Given the description of an element on the screen output the (x, y) to click on. 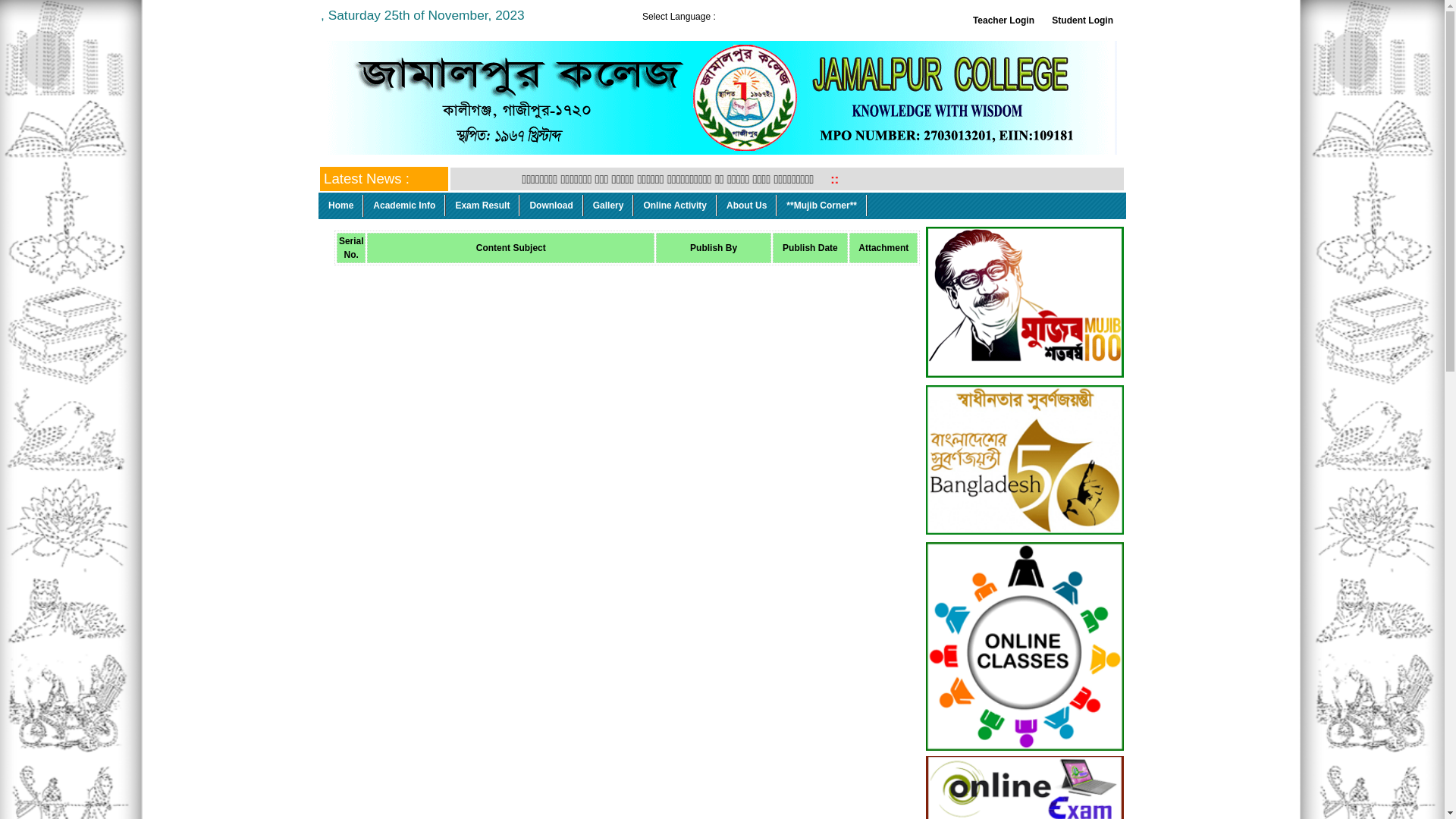
Gallery Element type: text (608, 205)
Student Login Element type: text (1082, 20)
Home Element type: text (341, 205)
Download Element type: text (551, 205)
Academic Info Element type: text (404, 205)
About Us Element type: text (746, 205)
Online Activity Element type: text (674, 205)
Exam Result Element type: text (482, 205)
Teacher Login Element type: text (1003, 20)
**Mujib Corner** Element type: text (821, 205)
